Given the description of an element on the screen output the (x, y) to click on. 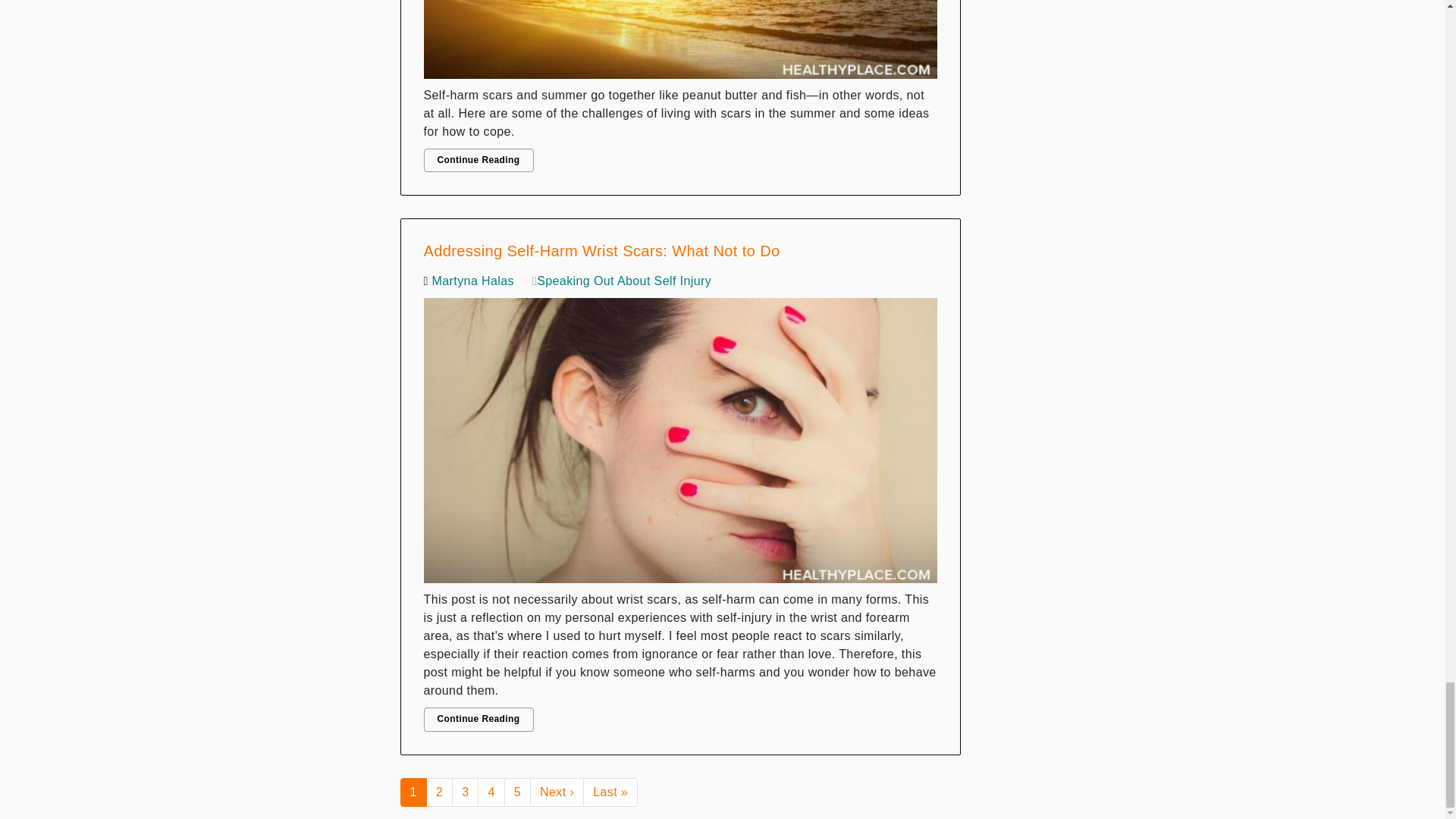
Go to page 4 (490, 792)
Current page (413, 792)
Go to page 2 (439, 792)
Go to last page (610, 792)
Go to page 3 (465, 792)
Go to page 5 (517, 792)
Self-Harm Scars in the Summer (680, 43)
Go to next page (556, 792)
